Given the description of an element on the screen output the (x, y) to click on. 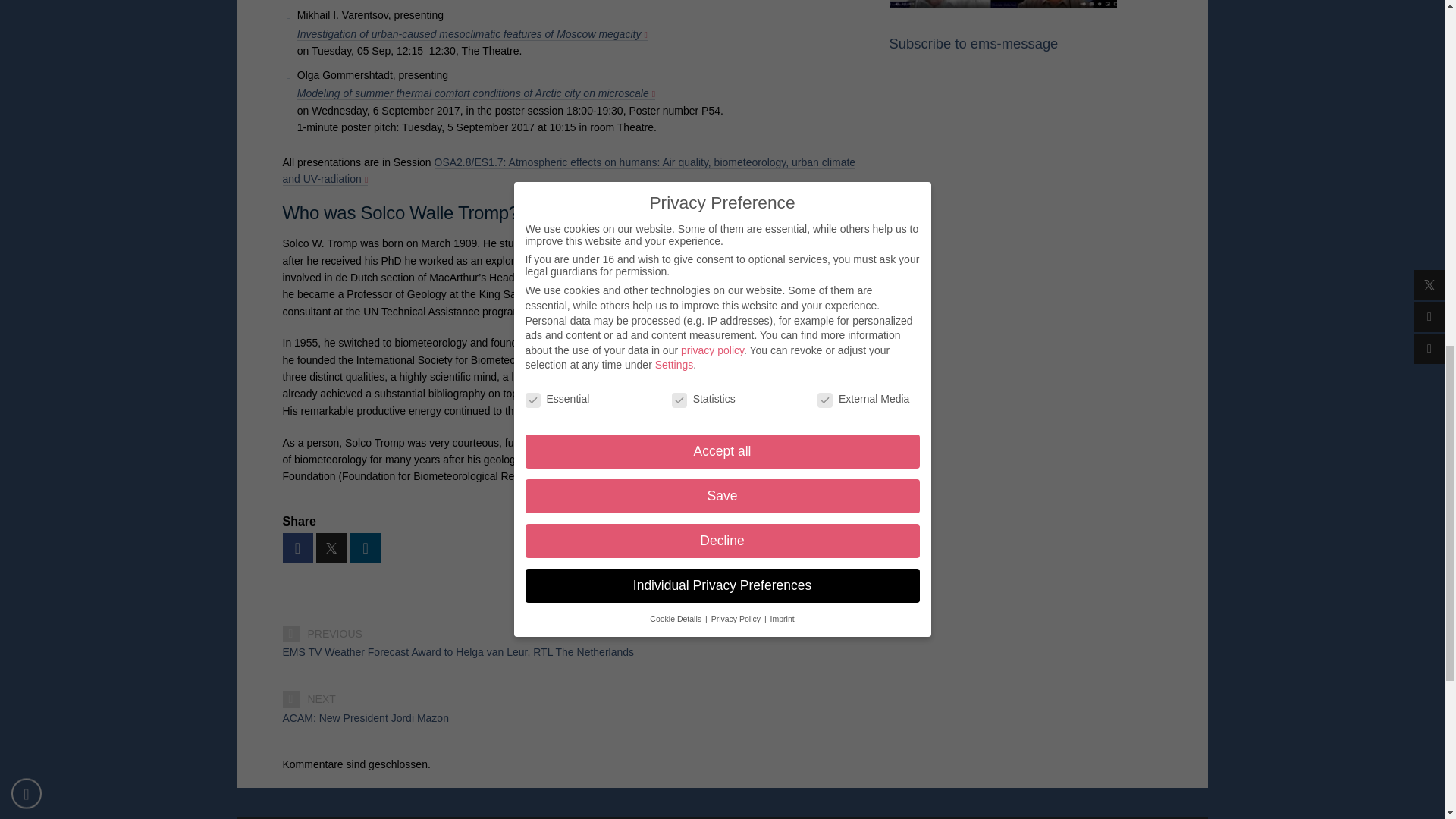
ACAM: New President Jordi Mazon (570, 718)
